Given the description of an element on the screen output the (x, y) to click on. 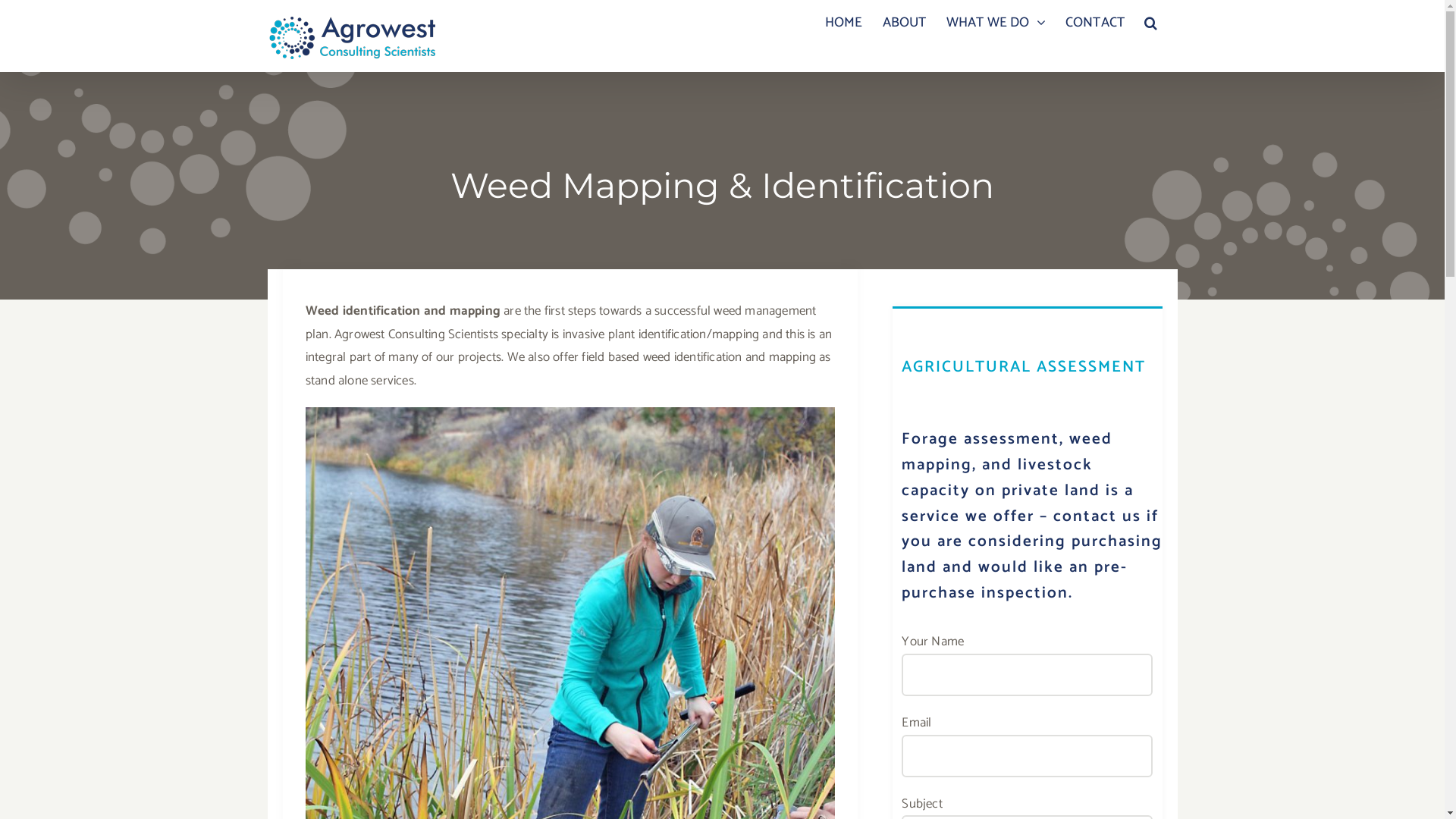
CONTACT Element type: text (1094, 22)
Search Element type: hover (1150, 22)
ABOUT Element type: text (904, 22)
WHAT WE DO Element type: text (995, 22)
HOME Element type: text (843, 22)
